Given the description of an element on the screen output the (x, y) to click on. 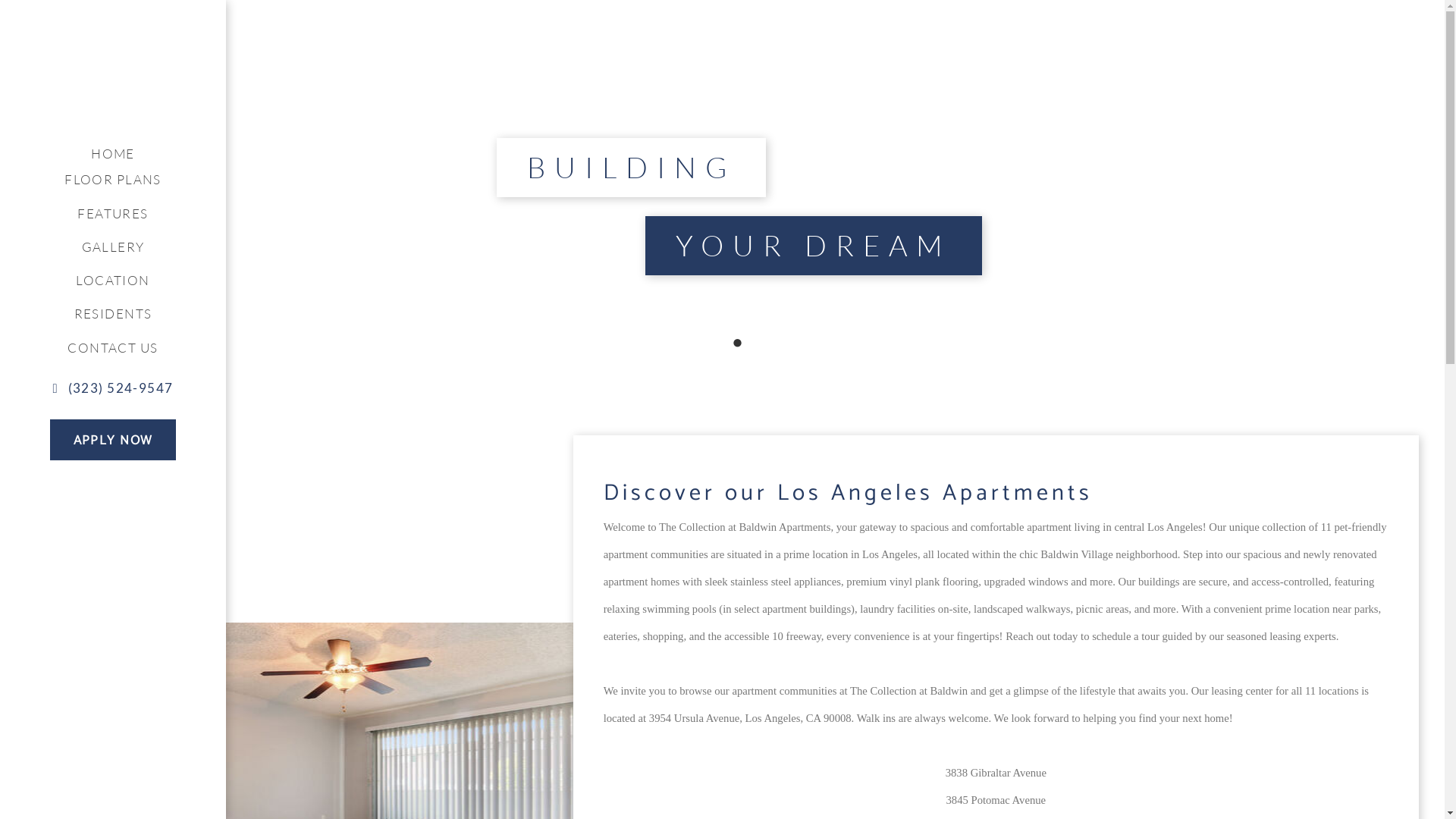
RESIDENTS Element type: text (112, 313)
FEATURES Element type: text (112, 213)
GALLERY Element type: text (112, 246)
(323) 524-9547 Element type: text (113, 388)
LOCATION Element type: text (112, 280)
CONTACT US Element type: text (112, 347)
APPLY NOW Element type: text (113, 439)
FLOOR PLANS Element type: text (112, 179)
